Given the description of an element on the screen output the (x, y) to click on. 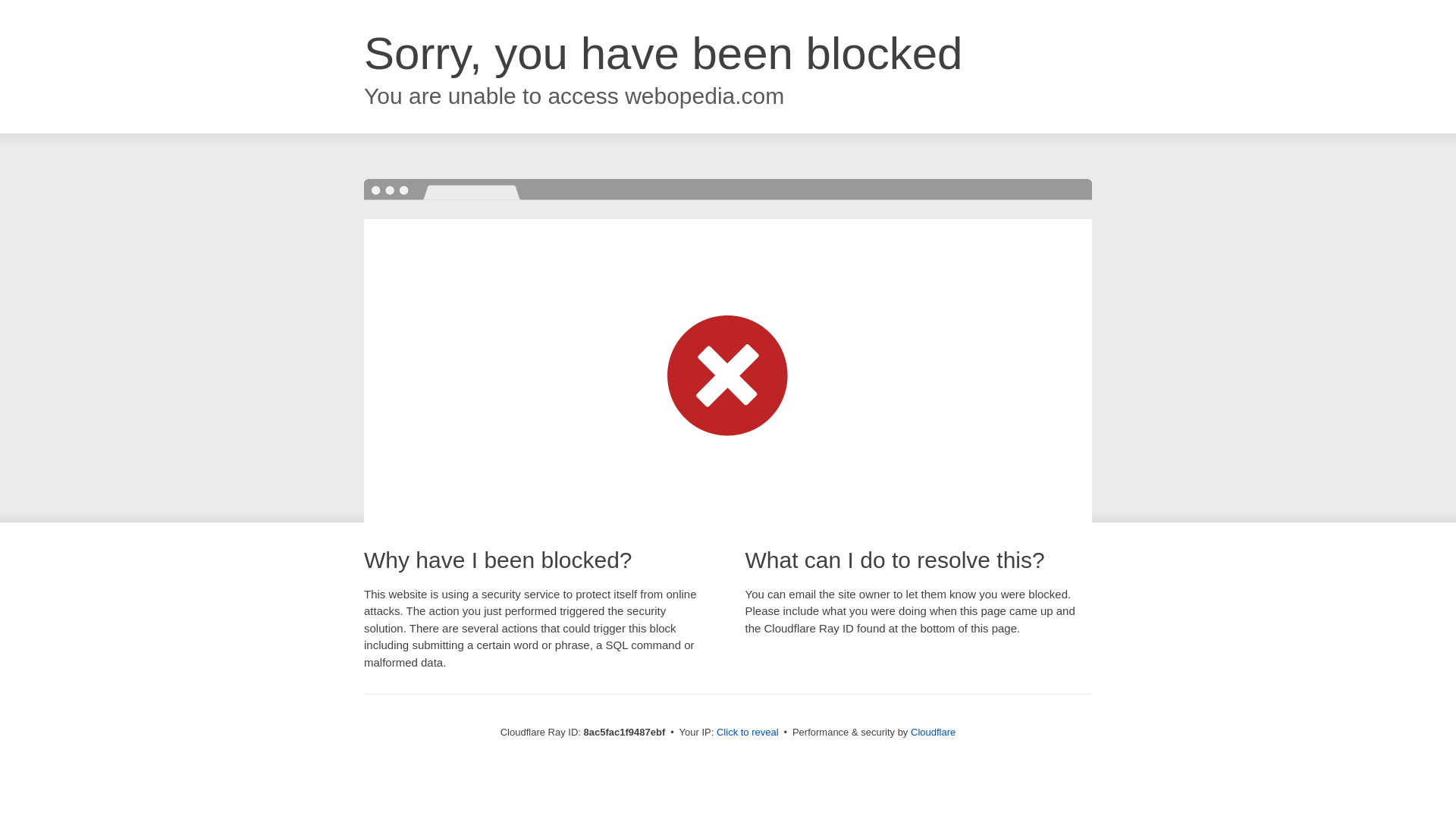
Cloudflare (933, 731)
Click to reveal (747, 732)
